Given the description of an element on the screen output the (x, y) to click on. 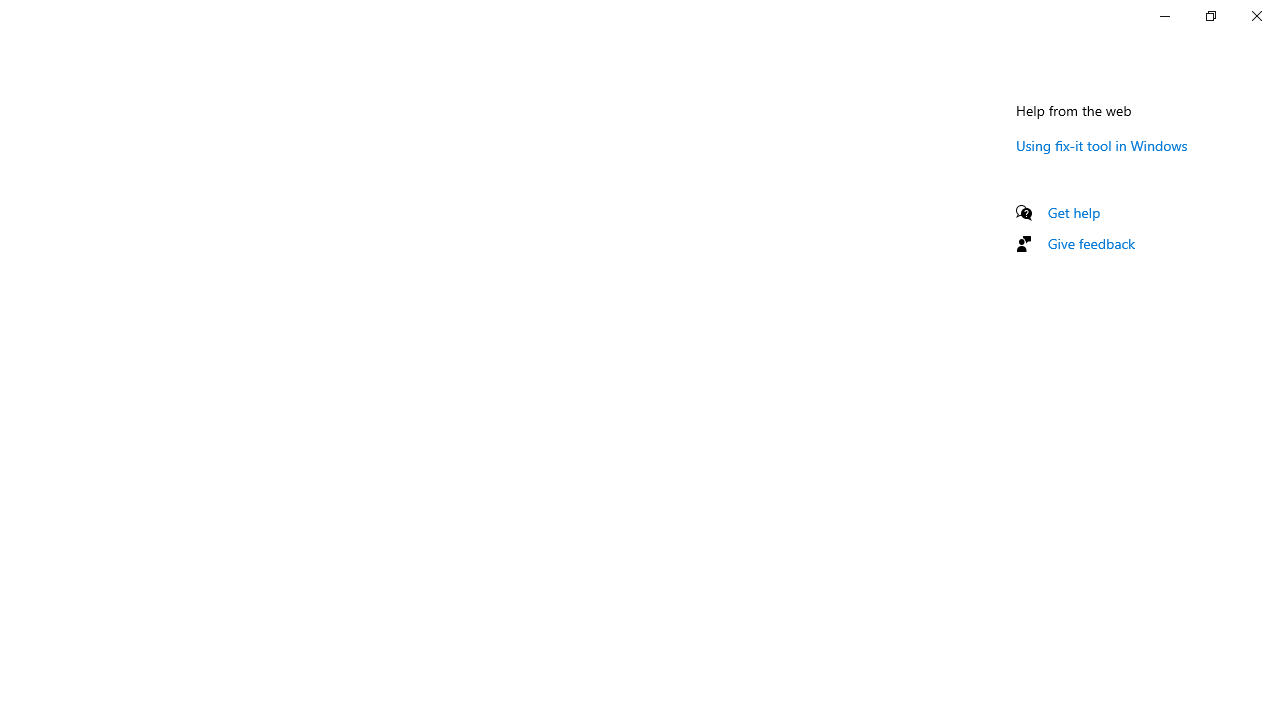
Close Settings (1256, 15)
Minimize Settings (1164, 15)
Using fix-it tool in Windows (1101, 145)
Give feedback (1091, 243)
Get help (1074, 212)
Restore Settings (1210, 15)
